Given the description of an element on the screen output the (x, y) to click on. 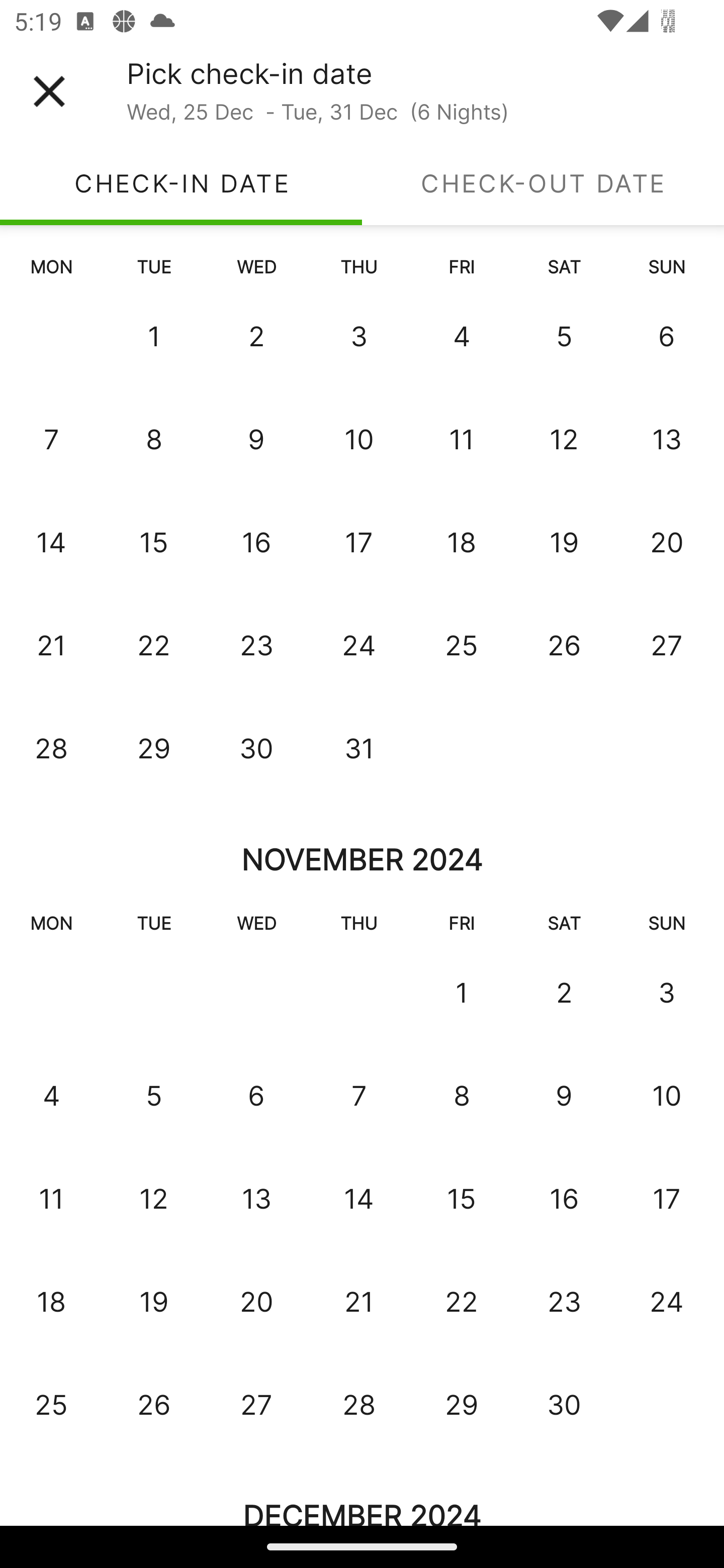
Check-out Date CHECK-OUT DATE (543, 183)
